Given the description of an element on the screen output the (x, y) to click on. 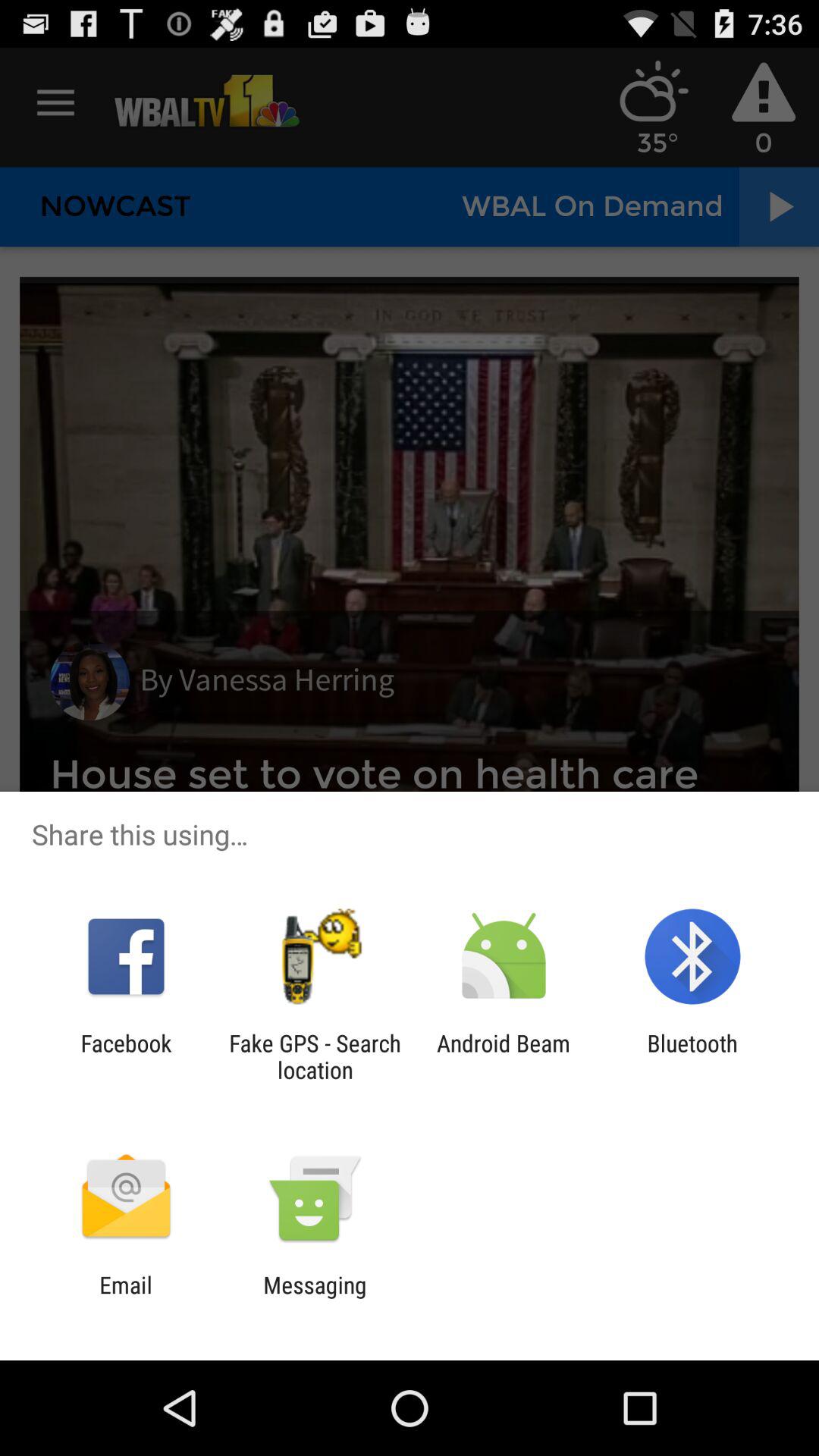
scroll until facebook icon (125, 1056)
